Given the description of an element on the screen output the (x, y) to click on. 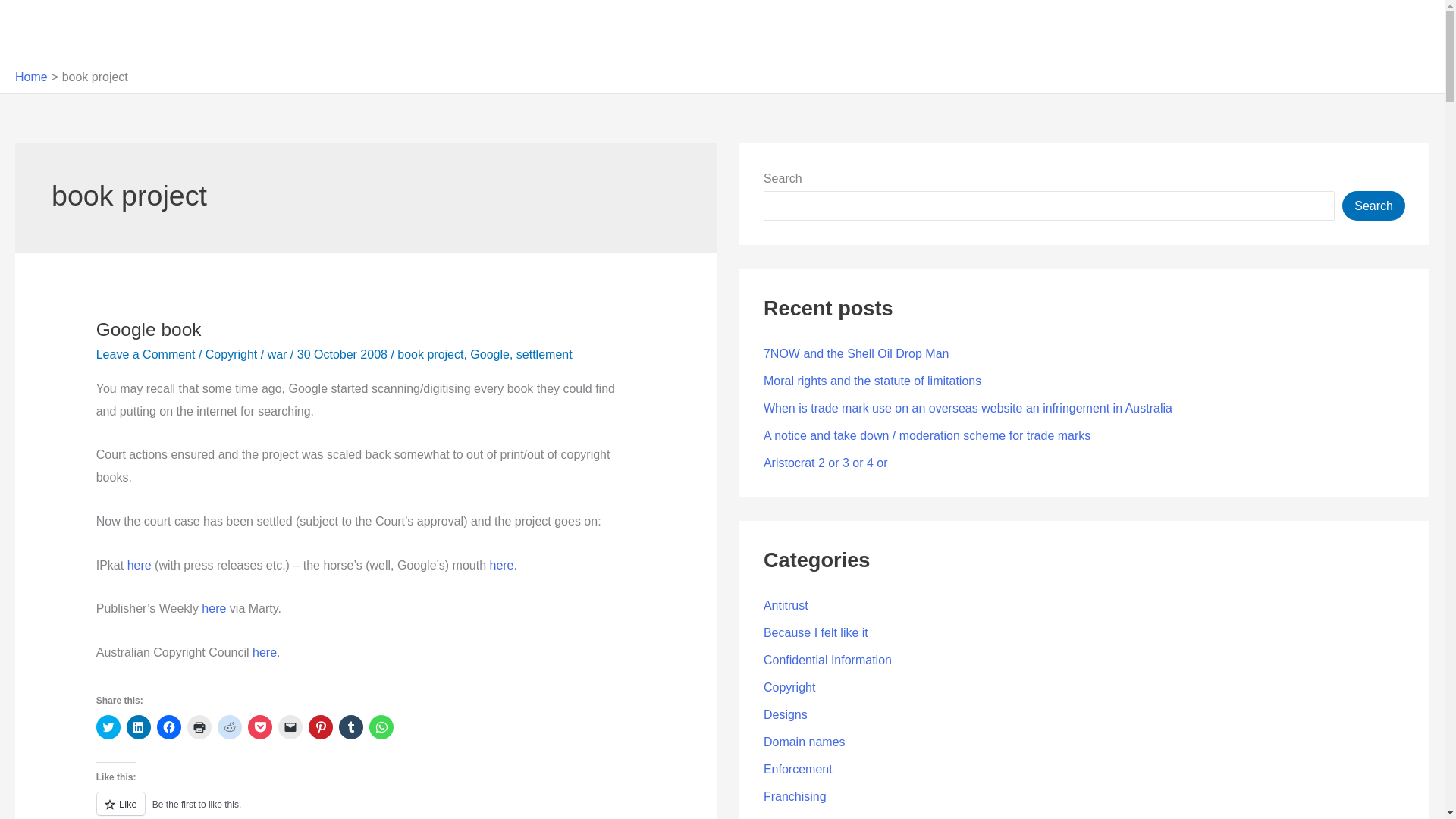
Google (489, 354)
7NOW and the Shell Oil Drop Man (855, 353)
Click to share on Facebook (168, 726)
Click to share on Pinterest (320, 726)
View all posts by war (278, 354)
Click to share on Twitter (108, 726)
Search (1373, 205)
Click to share on Tumblr (350, 726)
Click to share on LinkedIn (138, 726)
